Given the description of an element on the screen output the (x, y) to click on. 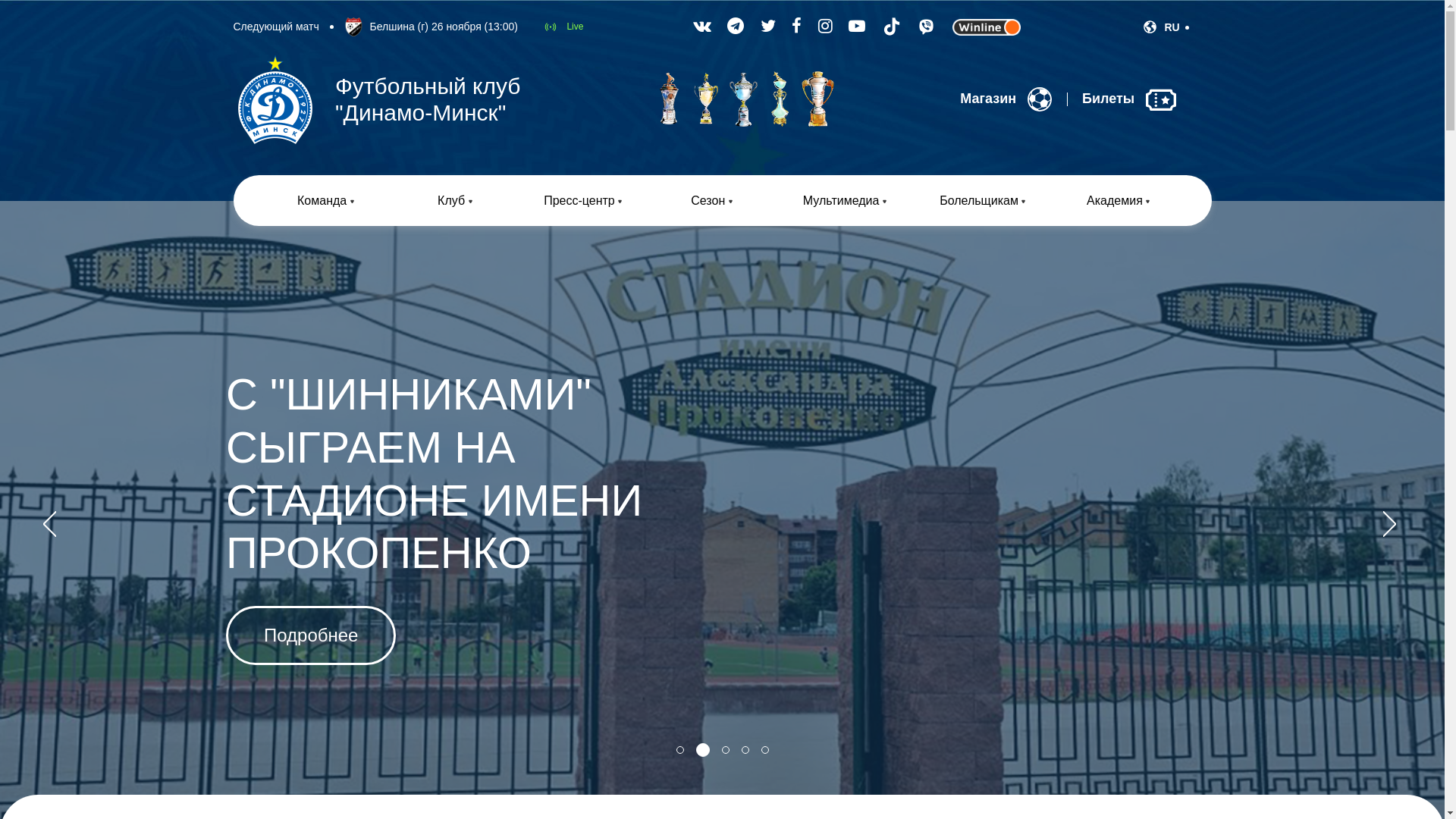
Live Element type: text (563, 26)
